Given the description of an element on the screen output the (x, y) to click on. 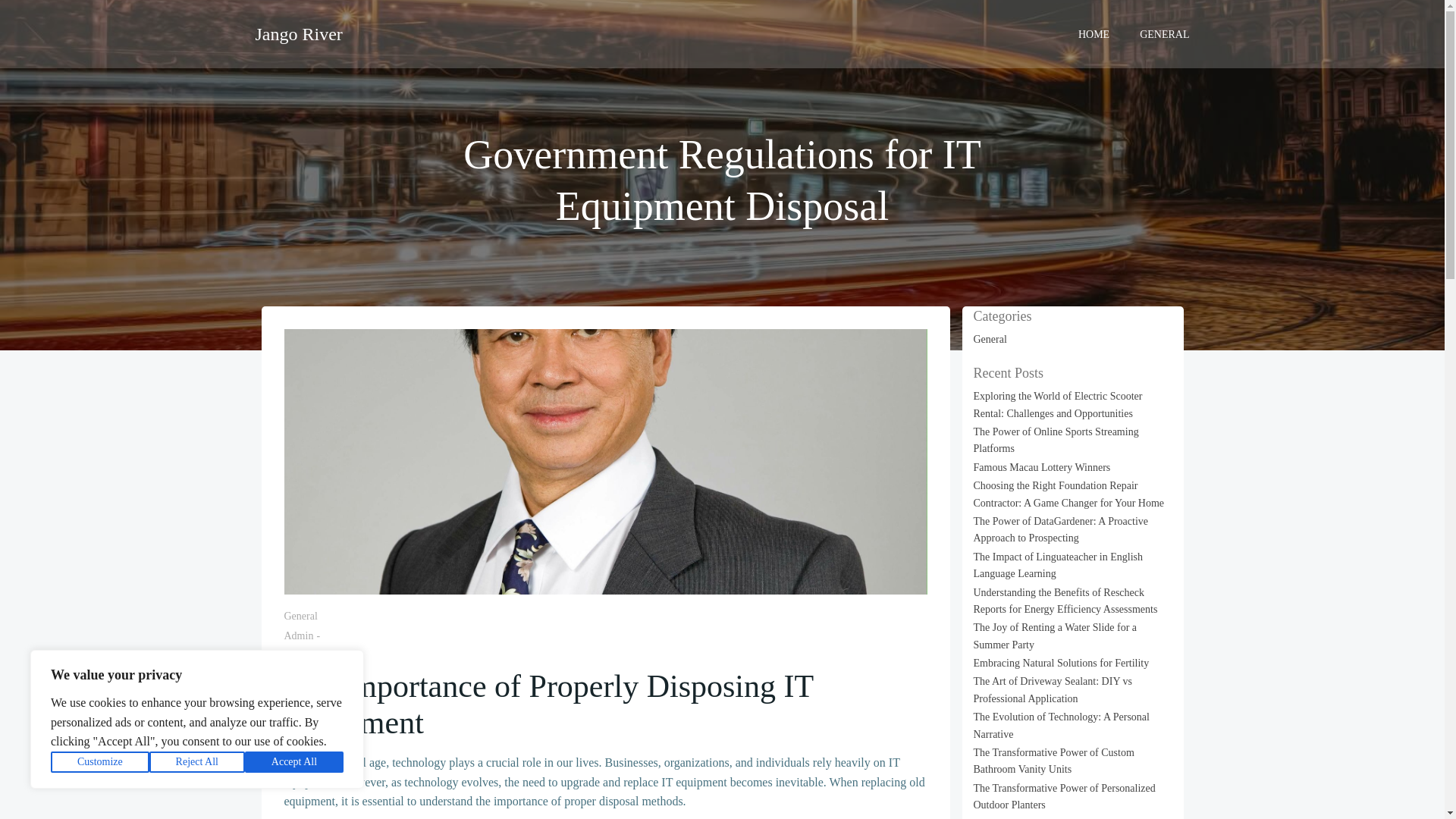
Customize (99, 762)
Admin (298, 635)
General (300, 616)
Accept All (293, 762)
GENERAL (1164, 33)
Jango River (298, 33)
Famous Macau Lottery Winners (1042, 467)
General (990, 338)
